Given the description of an element on the screen output the (x, y) to click on. 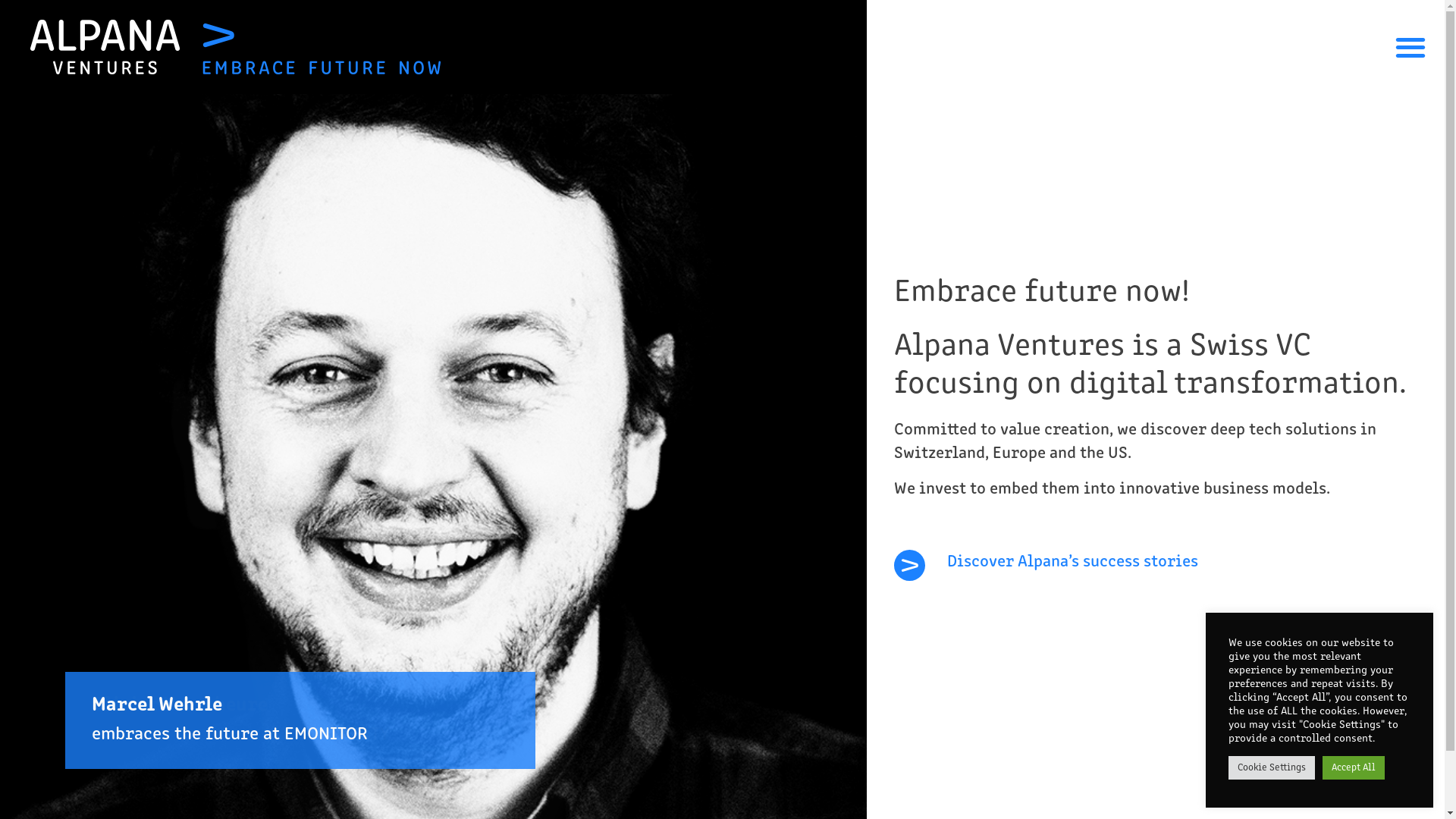
ERP and data analytics for real estate Element type: text (300, 719)
Accept All Element type: text (1353, 767)
Cookie Settings Element type: text (1271, 767)
